Given the description of an element on the screen output the (x, y) to click on. 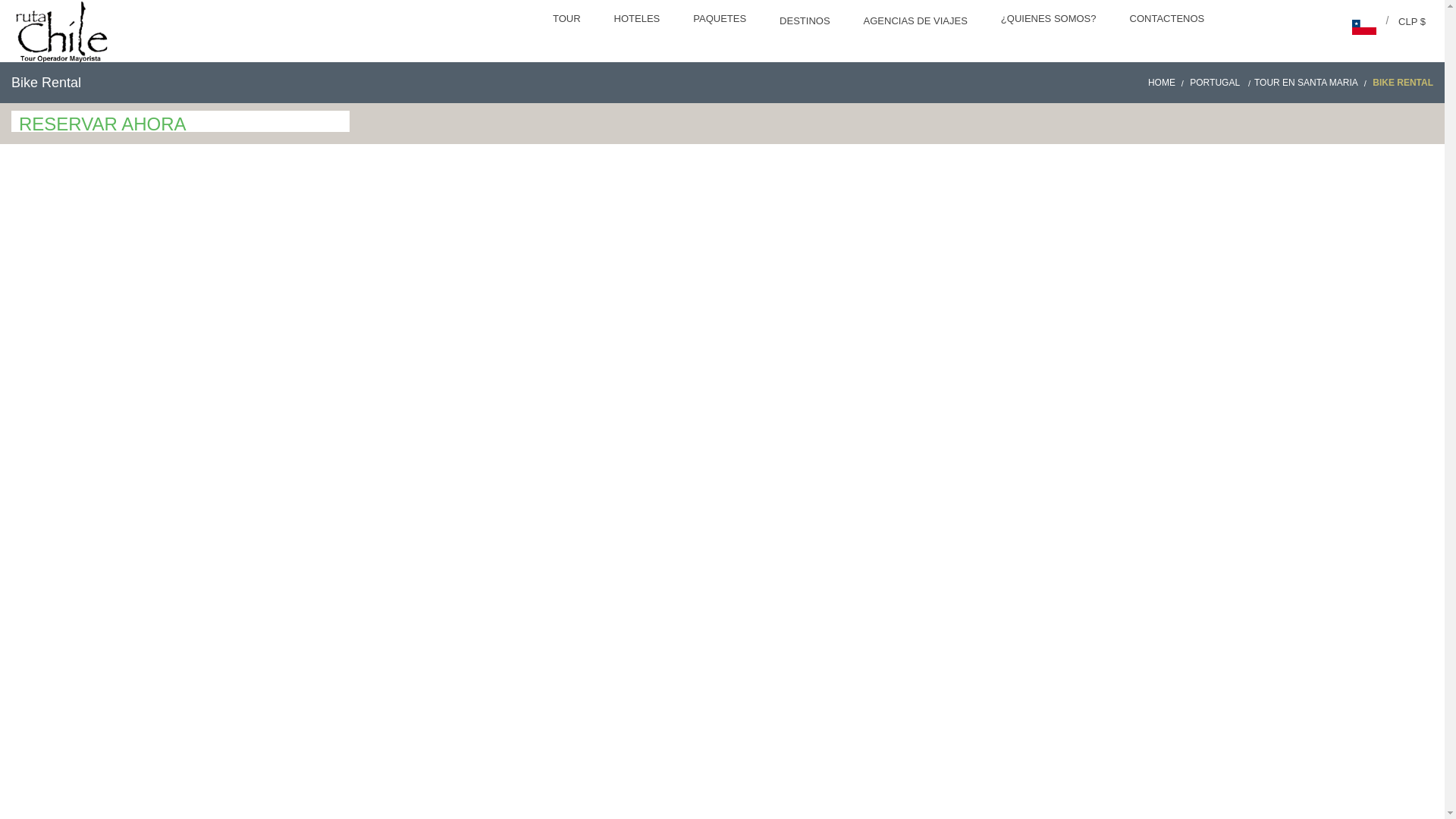
TOUR EN SANTA MARIA (1311, 81)
PAQUETES (721, 20)
HOME (1168, 81)
CONTACTENOS (1169, 20)
TOUR (567, 20)
HOTELES (638, 20)
AGENCIAS DE VIAJES (916, 22)
PORTUGAL (1221, 81)
DESTINOS (805, 22)
